Given the description of an element on the screen output the (x, y) to click on. 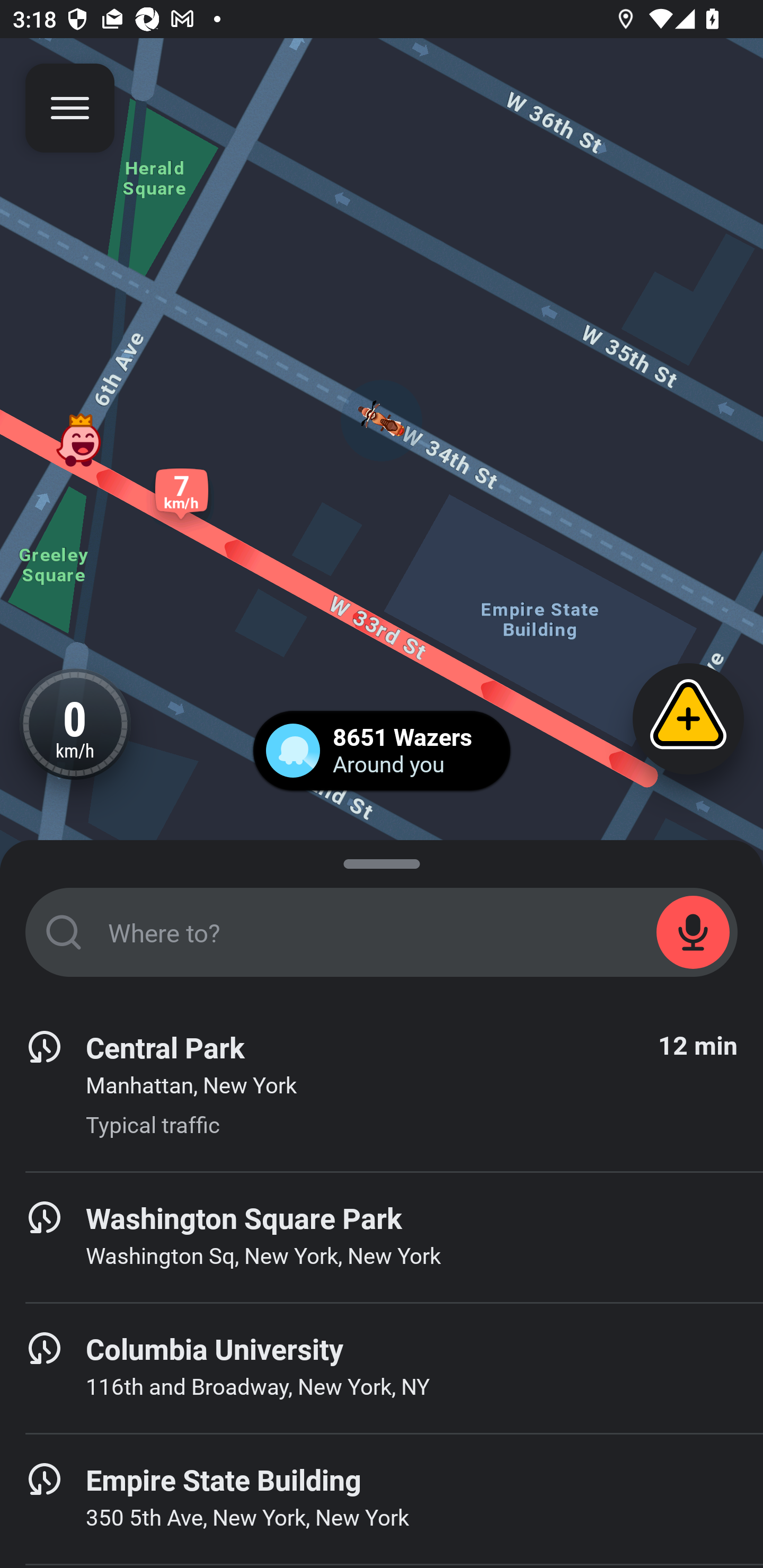
SUGGESTIONS_SHEET_DRAG_HANDLE (381, 860)
START_STATE_SEARCH_FIELD Where to? (381, 931)
